Given the description of an element on the screen output the (x, y) to click on. 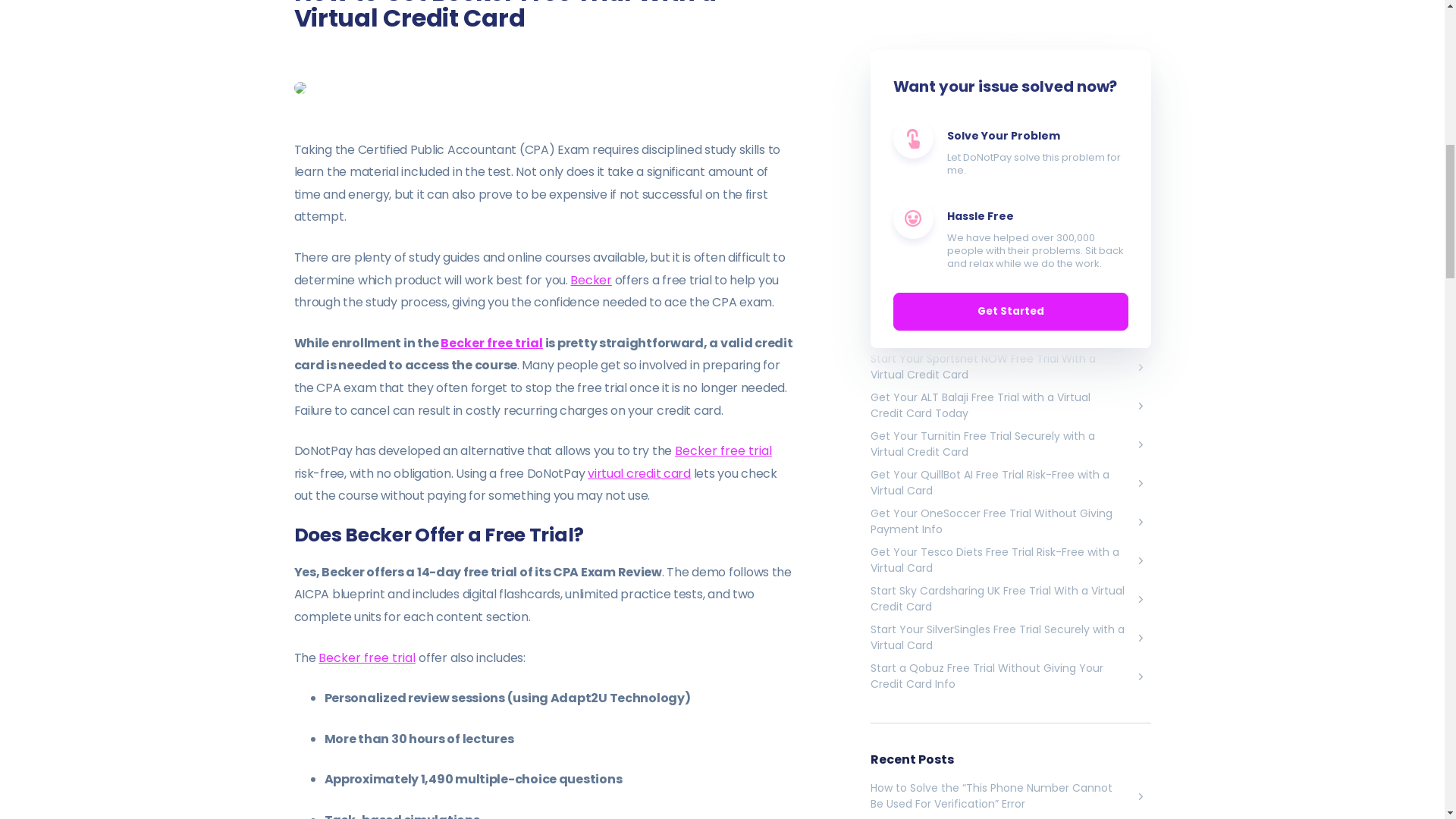
Becker free trial (723, 450)
Becker free trial (366, 657)
Becker free trial (492, 342)
virtual credit card (639, 473)
Becker (590, 280)
